Given the description of an element on the screen output the (x, y) to click on. 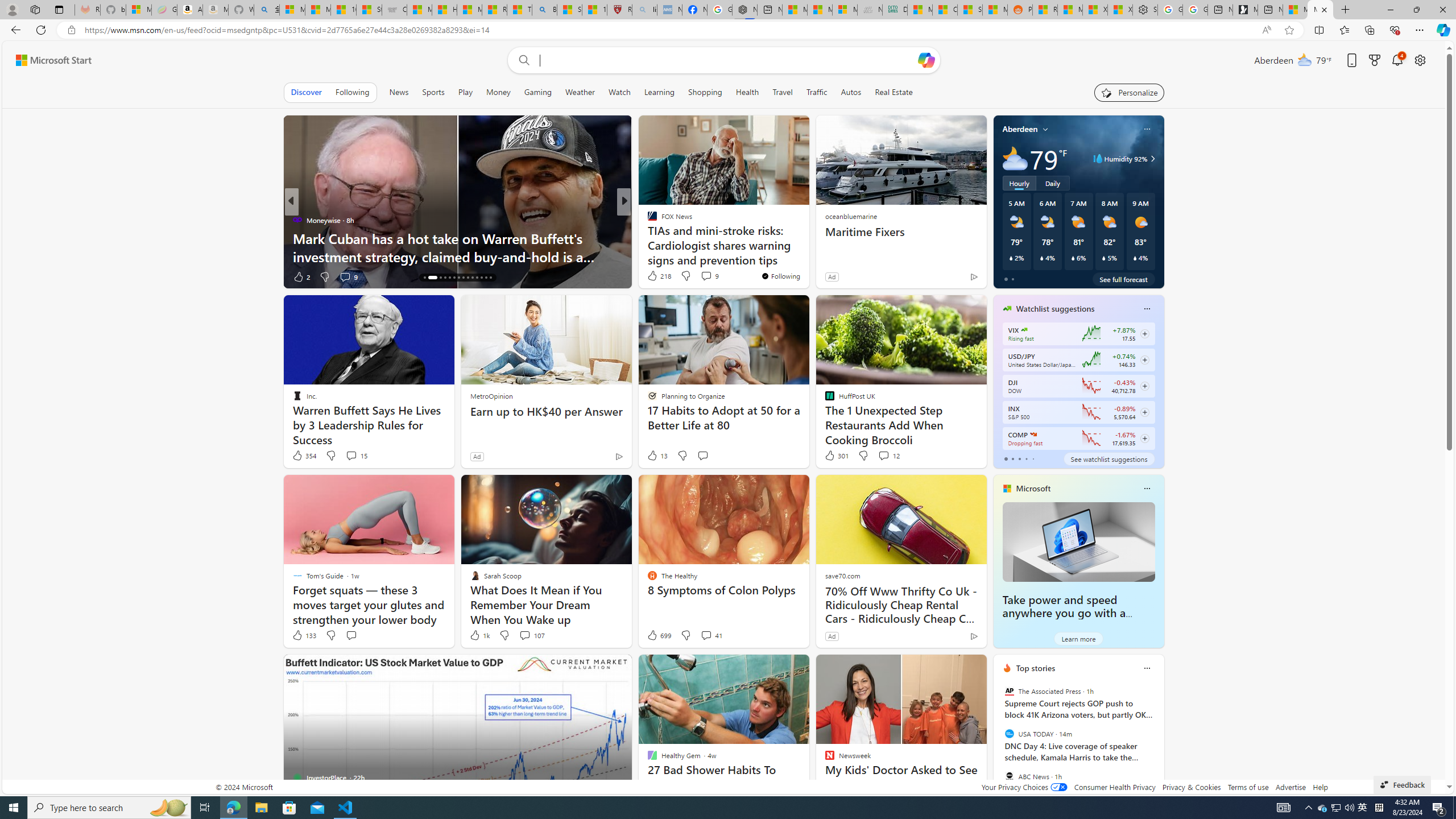
13 Like (657, 455)
Class: weather-current-precipitation-glyph (1134, 257)
CBOE Market Volatility Index (1023, 329)
The Associated Press (1008, 691)
1k Like (478, 634)
AutomationID: tab-26 (481, 277)
